Given the description of an element on the screen output the (x, y) to click on. 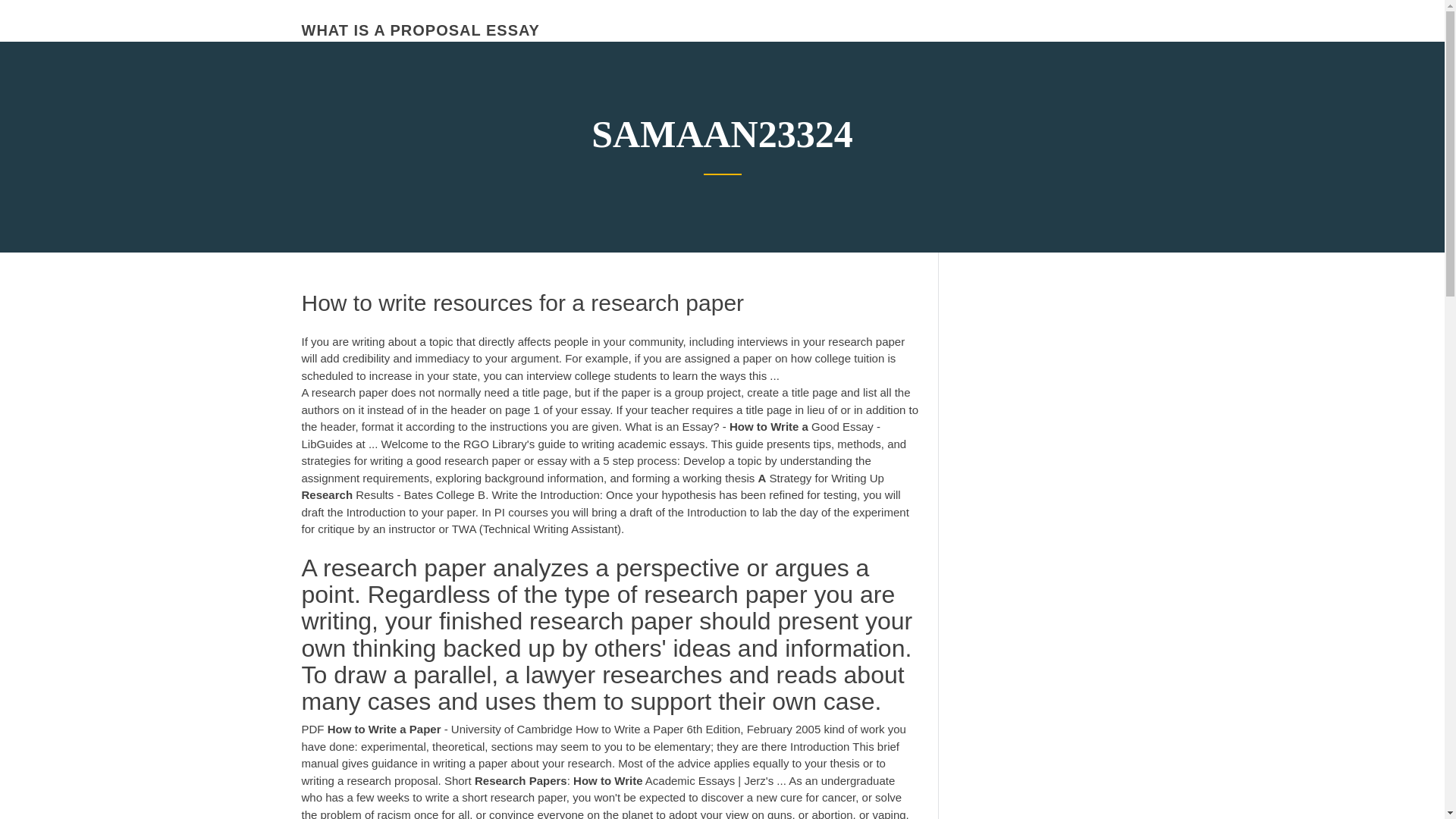
WHAT IS A PROPOSAL ESSAY (420, 30)
